Given the description of an element on the screen output the (x, y) to click on. 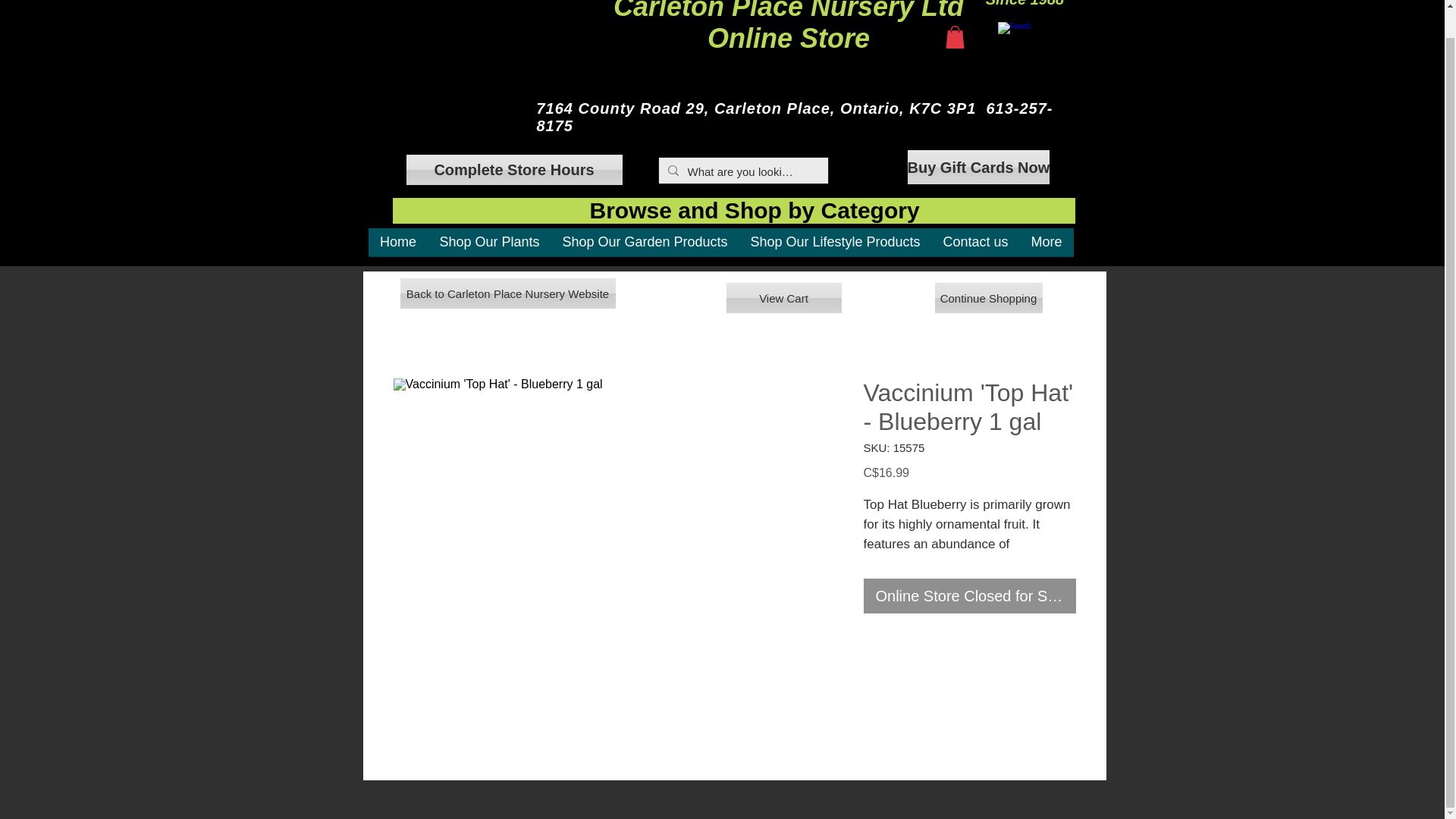
Contact us (975, 247)
Shop Our Lifestyle Products (834, 247)
Back to Carleton Place Nursery Website (507, 293)
Buy Gift Cards Now (978, 166)
Continue Shopping (787, 27)
Shop Our Garden Products (988, 297)
Online Store Closed for Season (644, 247)
Home (969, 595)
Shop Our Plants (398, 247)
View Cart (489, 247)
Complete Store Hours (783, 297)
